Given the description of an element on the screen output the (x, y) to click on. 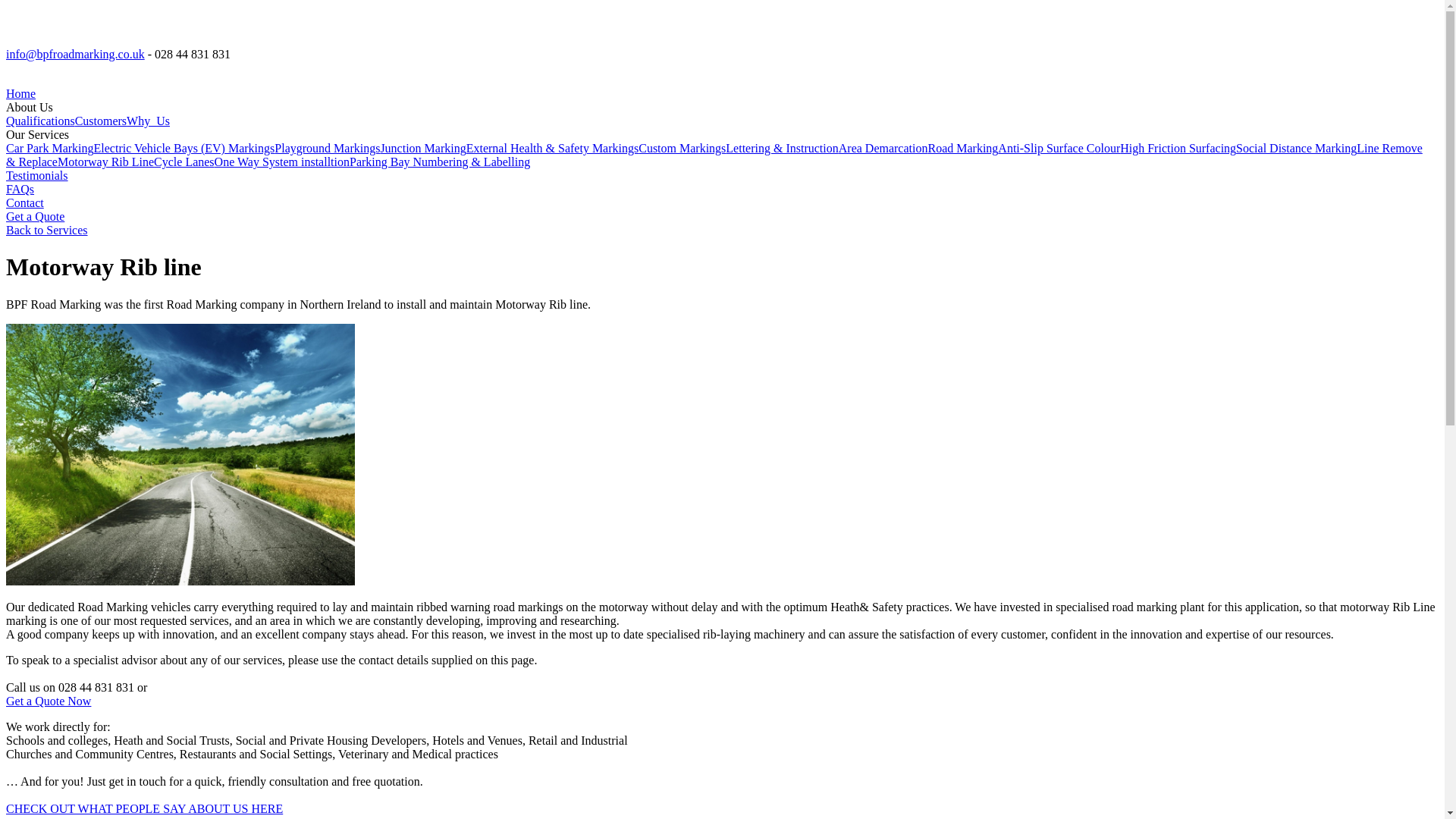
FAQs (19, 188)
Customers (100, 120)
Social Distance Marking (1296, 147)
Car Park Marking (49, 147)
CHECK OUT WHAT PEOPLE SAY ABOUT US HERE (143, 808)
One Way System installtion (281, 161)
Cycle Lanes (184, 161)
Testimonials (36, 174)
Get a Quote Now (47, 700)
Motorway Rib Line (106, 161)
High Friction Surfacing (1177, 147)
Qualifications (40, 120)
Back to Services (46, 229)
Junction Marking (422, 147)
Contact (24, 202)
